Given the description of an element on the screen output the (x, y) to click on. 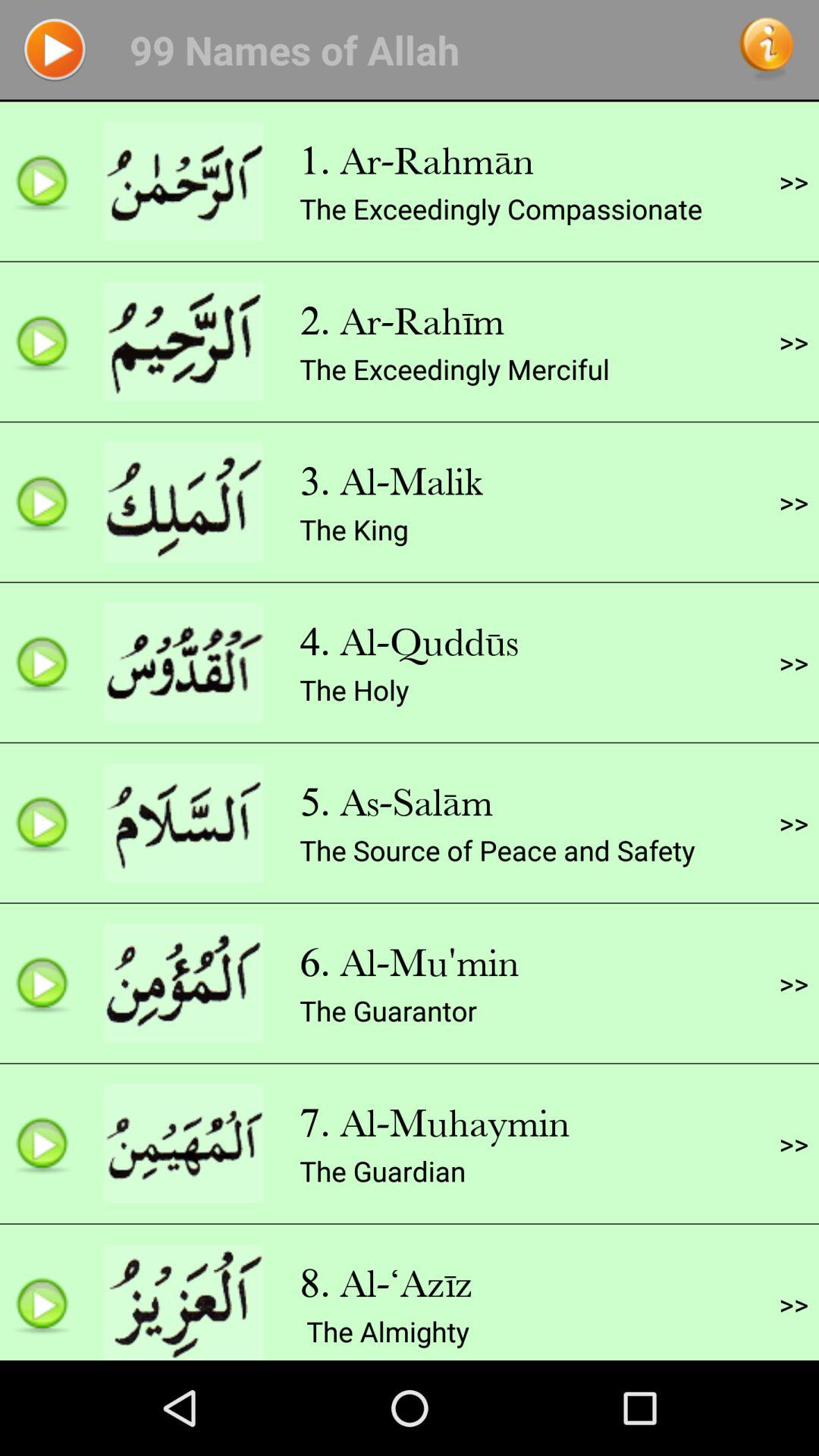
choose the icon below the >> item (793, 341)
